Given the description of an element on the screen output the (x, y) to click on. 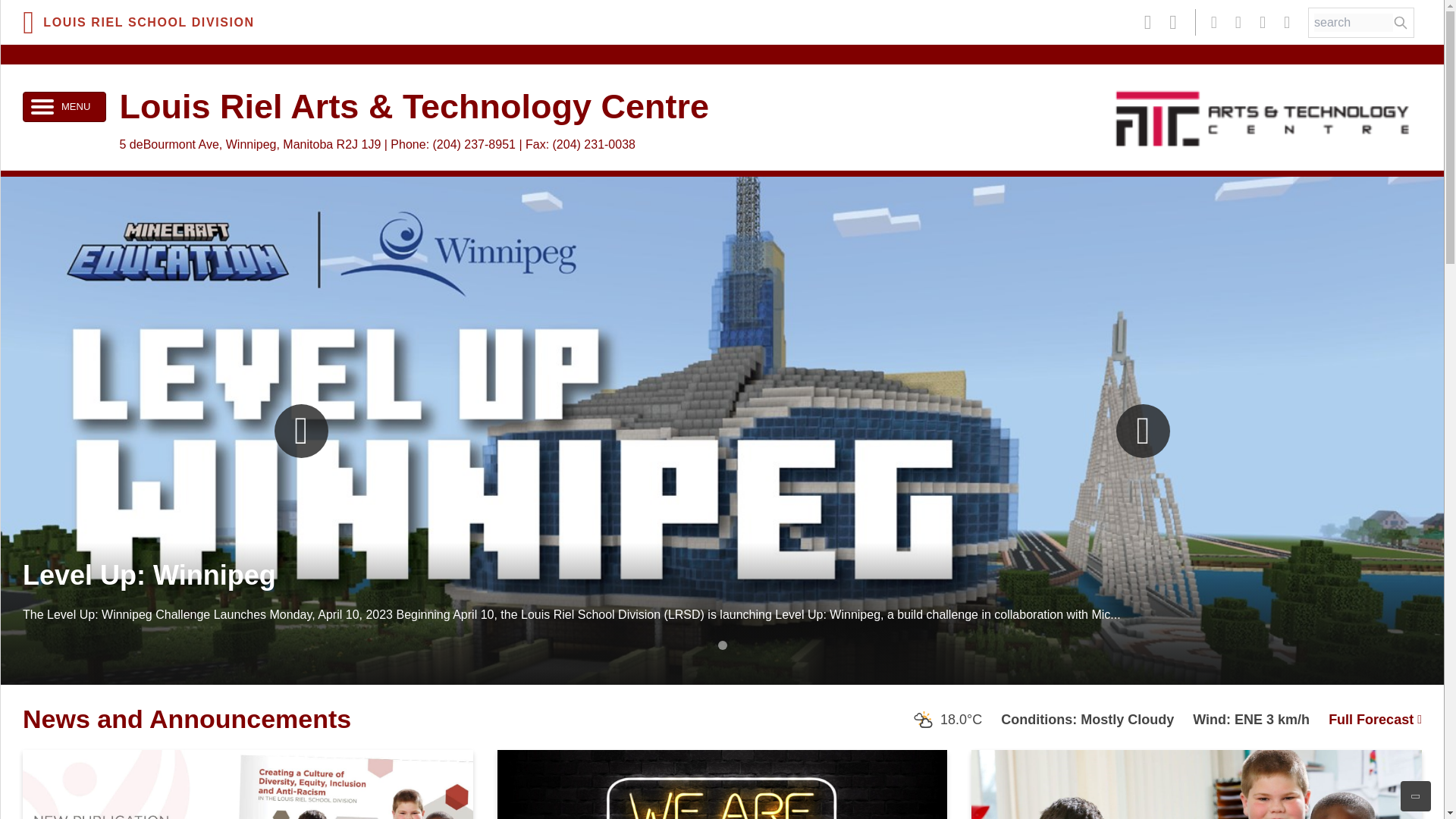
Search (1353, 22)
1 (721, 645)
Search (1400, 22)
Full Forecast  (1374, 718)
on (41, 105)
Level Up: Winnipeg (149, 574)
LOUIS RIEL SCHOOL DIVISION (138, 21)
